Given the description of an element on the screen output the (x, y) to click on. 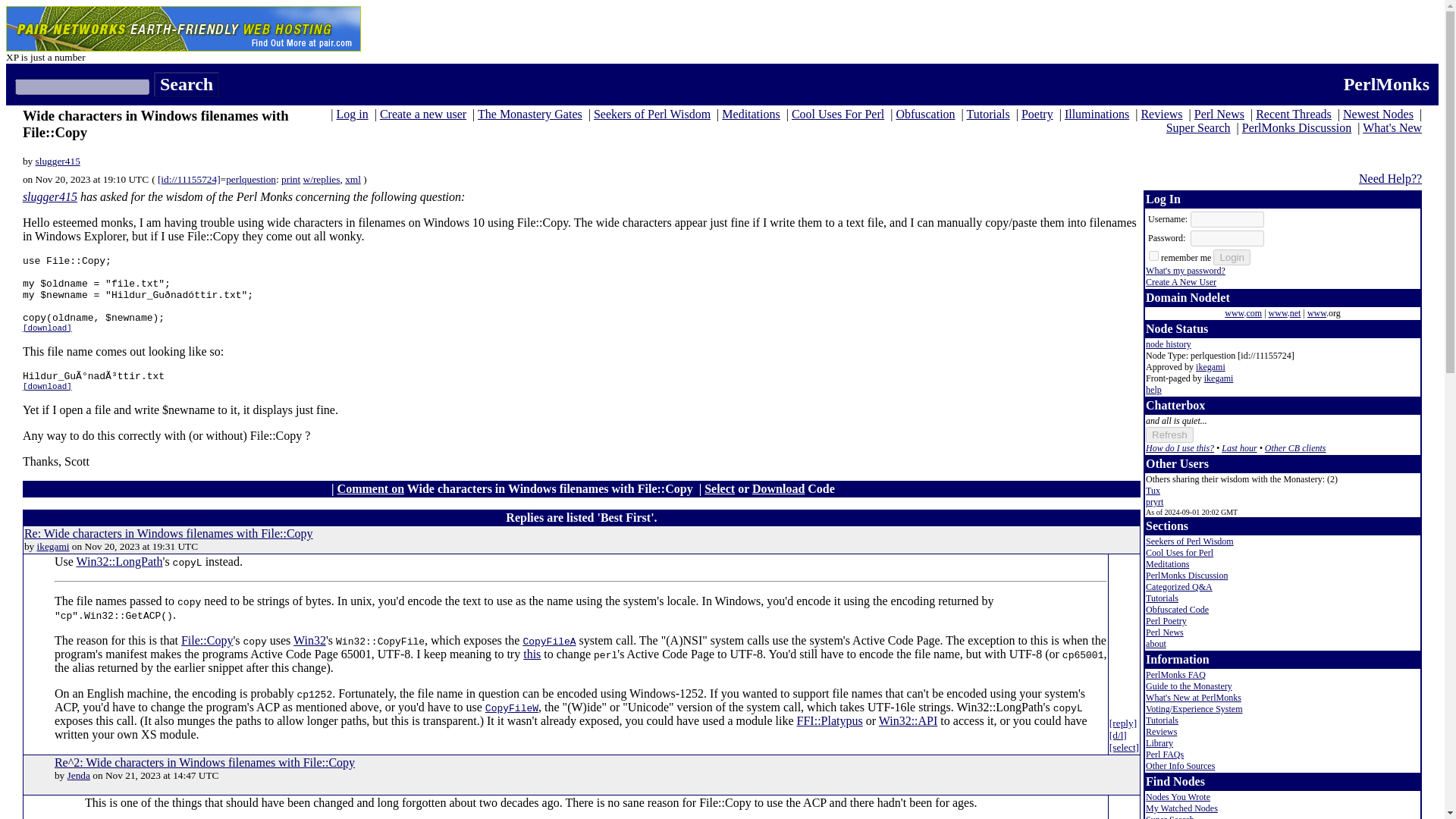
Create a new user (422, 113)
Illuminations (1096, 113)
PerlMonks (1386, 84)
Newest Nodes (1377, 113)
Obfuscation (925, 113)
Win32 (310, 640)
ikegami (53, 546)
perlquestion (250, 179)
The Monastery Gates (529, 113)
Login (1231, 257)
